Given the description of an element on the screen output the (x, y) to click on. 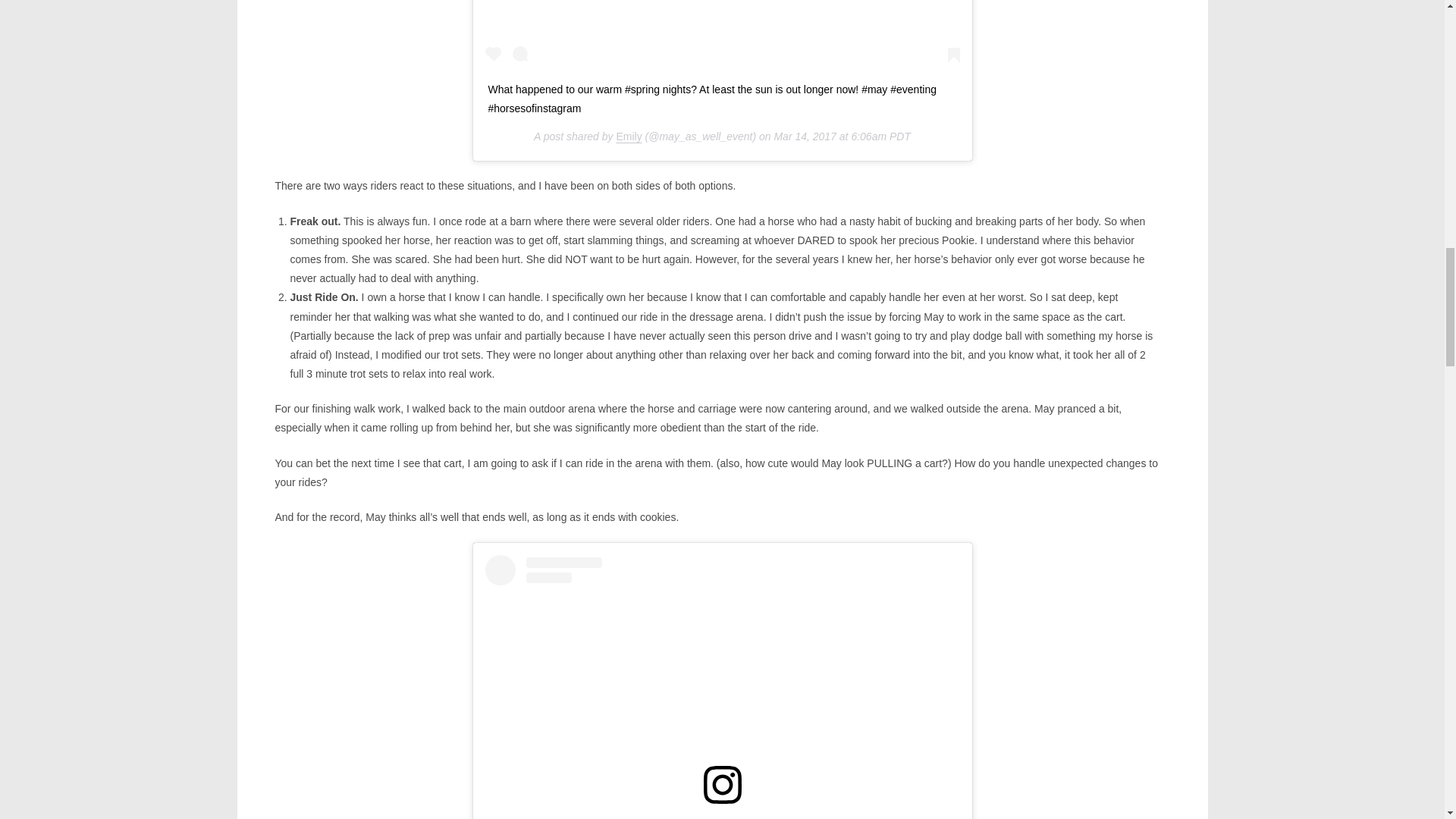
Emily (628, 136)
View this post on Instagram (721, 34)
View this post on Instagram (721, 687)
